Given the description of an element on the screen output the (x, y) to click on. 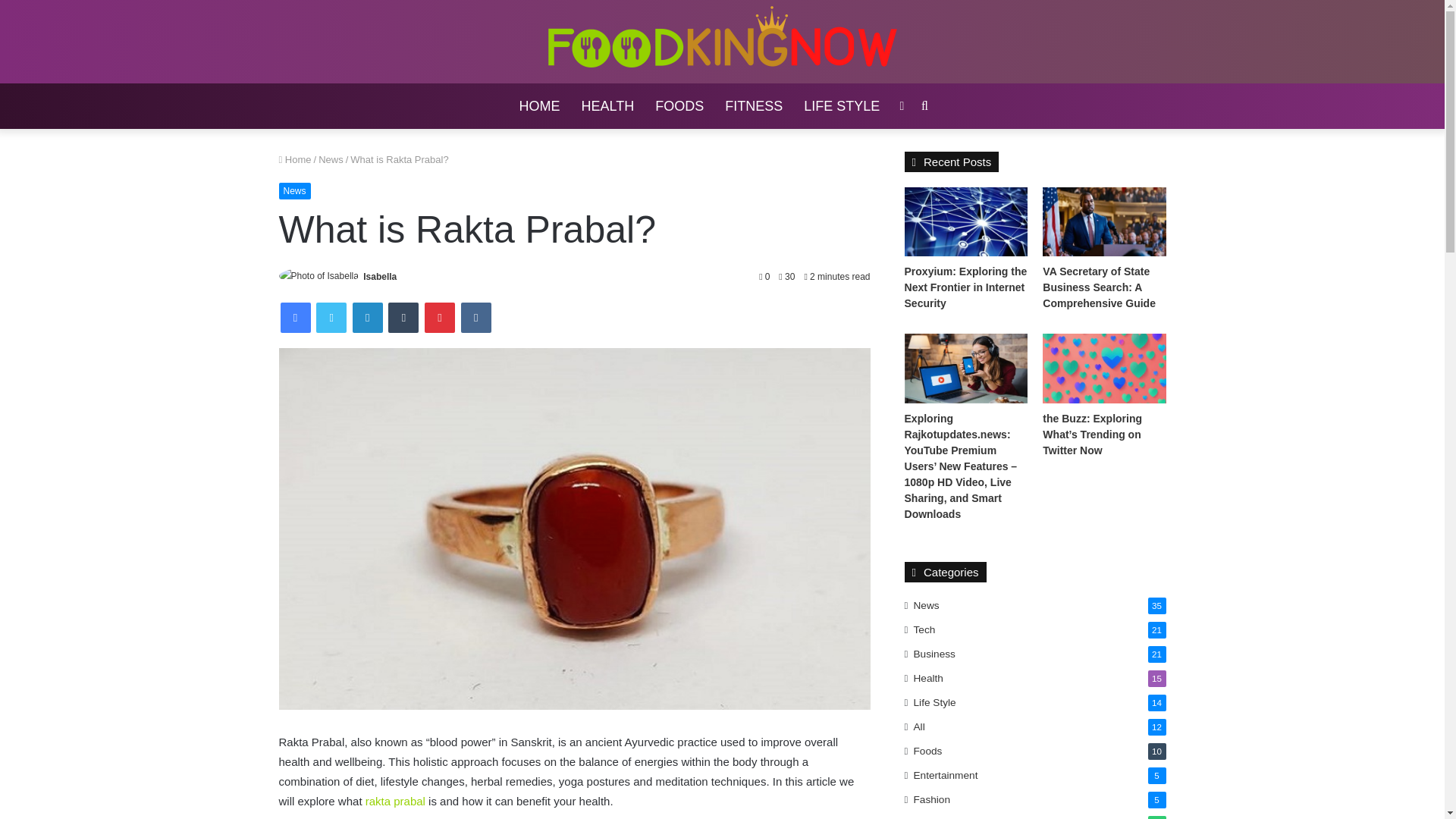
FoodKingNow (721, 41)
Facebook (296, 317)
Twitter (330, 317)
Facebook (296, 317)
News (330, 159)
LinkedIn (367, 317)
FITNESS (753, 105)
Pinterest (439, 317)
Twitter (330, 317)
LIFE STYLE (841, 105)
rakta prabal (395, 800)
Home (295, 159)
HEALTH (607, 105)
Isabella (379, 276)
News (295, 190)
